Given the description of an element on the screen output the (x, y) to click on. 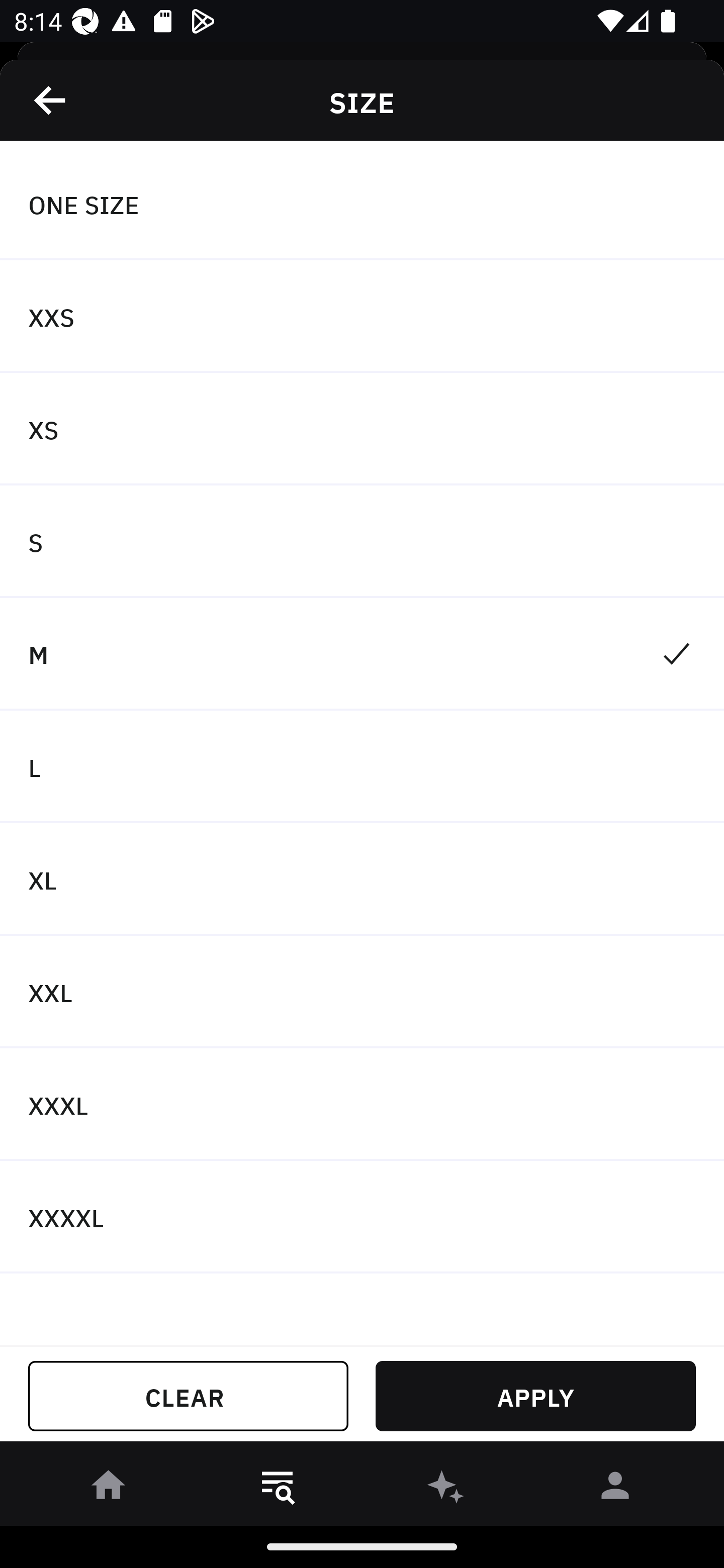
 (50, 100)
ONE SIZE (362, 203)
XXS (362, 316)
XS (362, 429)
S (362, 541)
M  (362, 653)
L (362, 766)
XL (362, 879)
XXL (362, 992)
XXXL (362, 1104)
XXXXL (362, 1216)
CLEAR  (188, 1396)
APPLY (535, 1396)
󰋜 (108, 1488)
󱎸 (277, 1488)
󰫢 (446, 1488)
󰀄 (615, 1488)
